Given the description of an element on the screen output the (x, y) to click on. 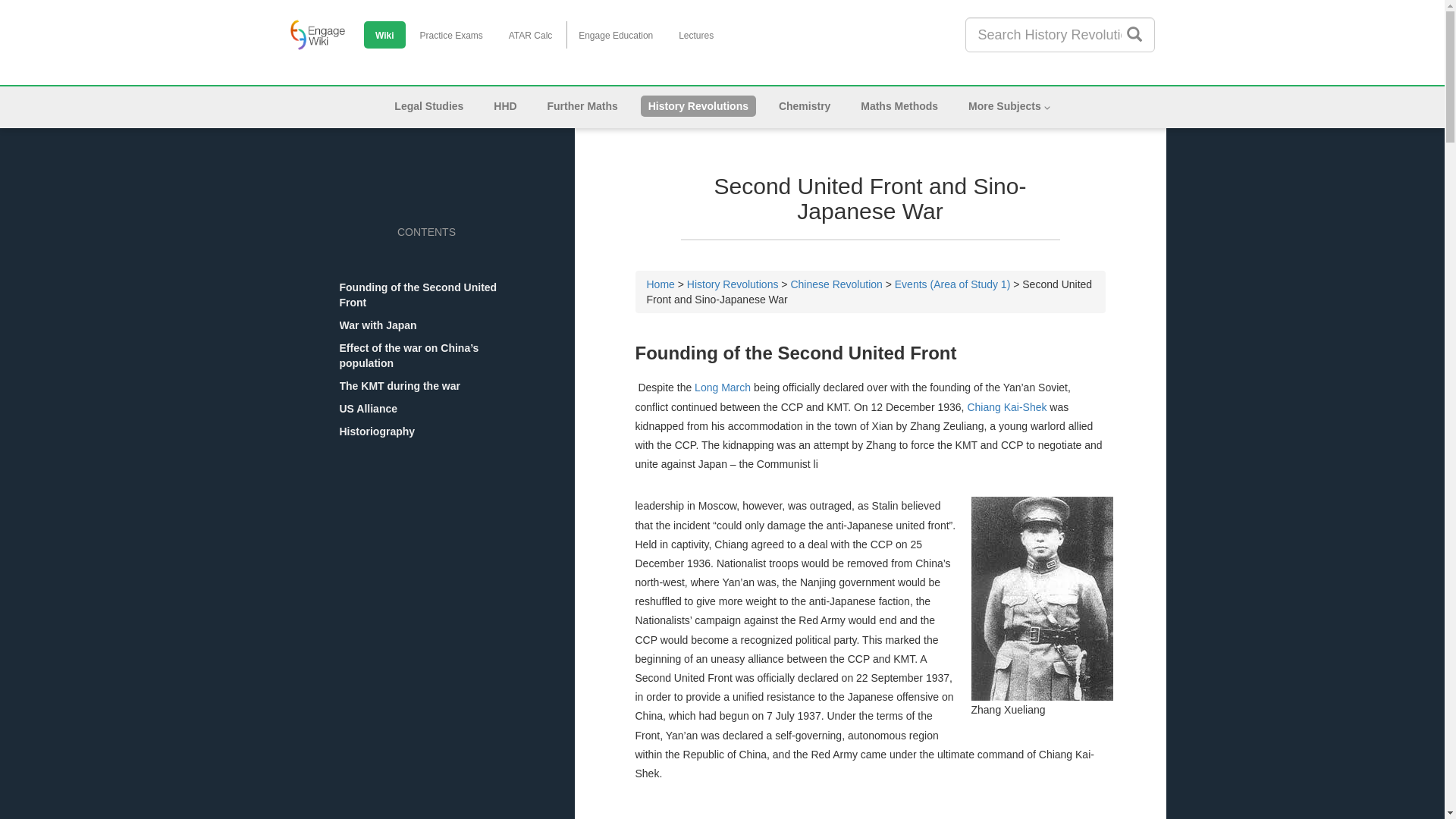
Long March Element type: text (722, 387)
History Revolutions Element type: text (698, 106)
HHD Element type: text (504, 106)
Legal Studies Element type: text (428, 106)
US Alliance Element type: text (426, 408)
The KMT during the war Element type: text (426, 385)
Home Element type: text (660, 284)
Practice Exams Element type: text (450, 35)
Lectures Element type: text (695, 35)
Chinese Revolution Element type: text (835, 284)
Engage Education Element type: text (615, 35)
History Revolutions Element type: text (732, 284)
Wiki Element type: text (384, 35)
Events (Area of Study 1) Element type: text (952, 284)
Maths Methods Element type: text (899, 106)
More Subjects Element type: text (1009, 106)
War with Japan Element type: text (426, 324)
Further Maths Element type: text (582, 106)
Founding of the Second United Front Element type: text (426, 294)
Chemistry Element type: text (804, 106)
Chiang Kai-Shek Element type: text (1007, 407)
ATAR Calc Element type: text (530, 35)
Historiography Element type: text (426, 431)
